Given the description of an element on the screen output the (x, y) to click on. 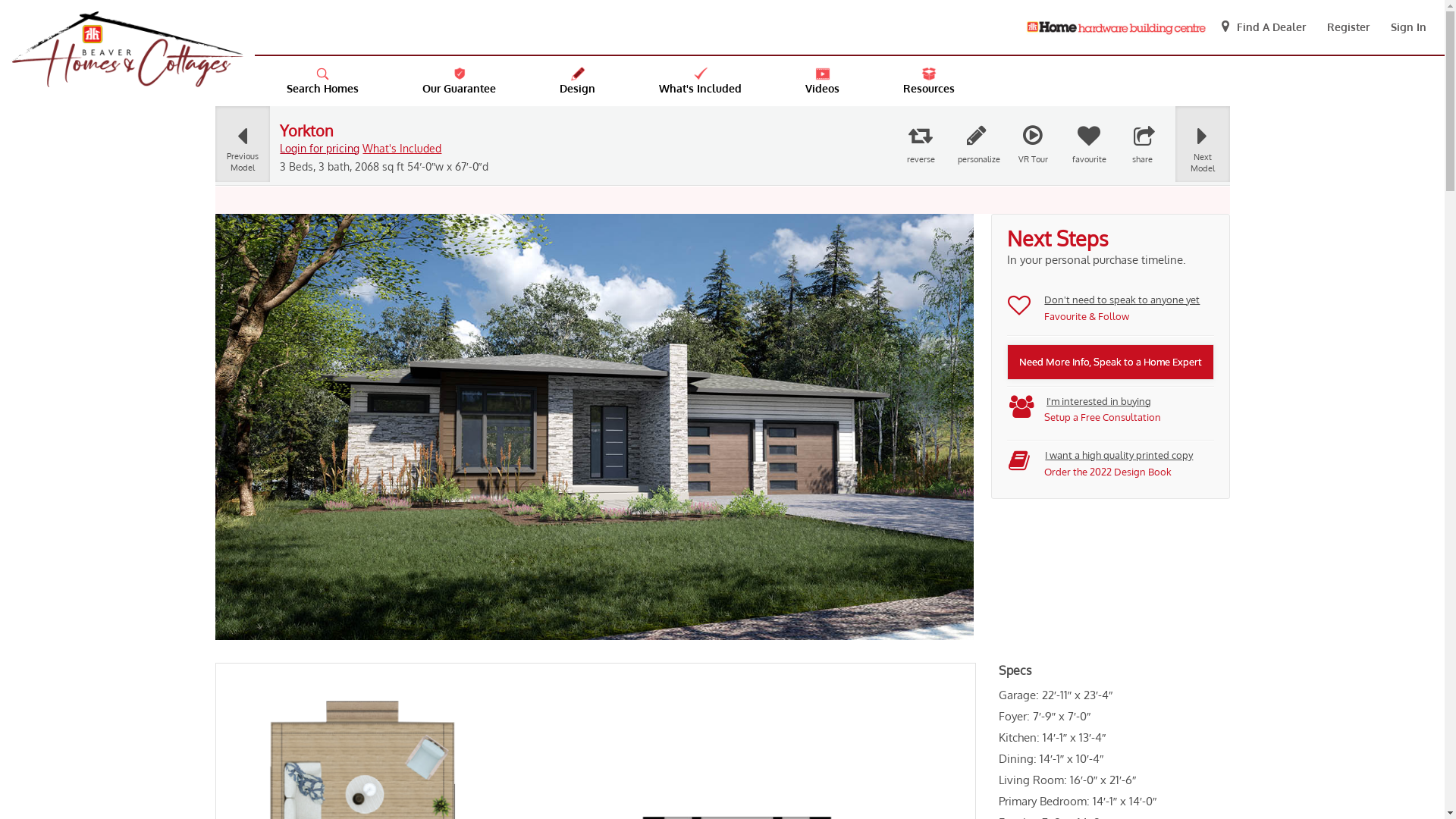
Resources Element type: text (928, 81)
favourite Element type: text (1088, 144)
What's Included Element type: text (700, 81)
Sign In Element type: text (1408, 26)
personalize Element type: text (976, 144)
Need More Info, Speak to a Home Expert Element type: text (1110, 361)
Previous Model Element type: text (242, 148)
What's Included Element type: text (401, 147)
Next Model Element type: text (1202, 148)
Design Element type: text (577, 81)
Beaver Homes and Cottages Element type: hover (127, 49)
I'm interested in buying
Setup a Free Consultation Element type: text (1079, 410)
Don't need to speak to anyone yet
Favourite & Follow Element type: text (1103, 308)
Login for pricing Element type: text (319, 147)
VR Tour Element type: text (1033, 144)
Our Guarantee Element type: text (458, 81)
reverse Element type: text (919, 144)
Home Hardware Building Centre Element type: hover (1116, 26)
share Element type: text (1143, 144)
Find A Dealer Element type: text (1261, 26)
Register Element type: text (1348, 26)
Videos Element type: text (822, 81)
Search Homes Element type: text (322, 81)
